Given the description of an element on the screen output the (x, y) to click on. 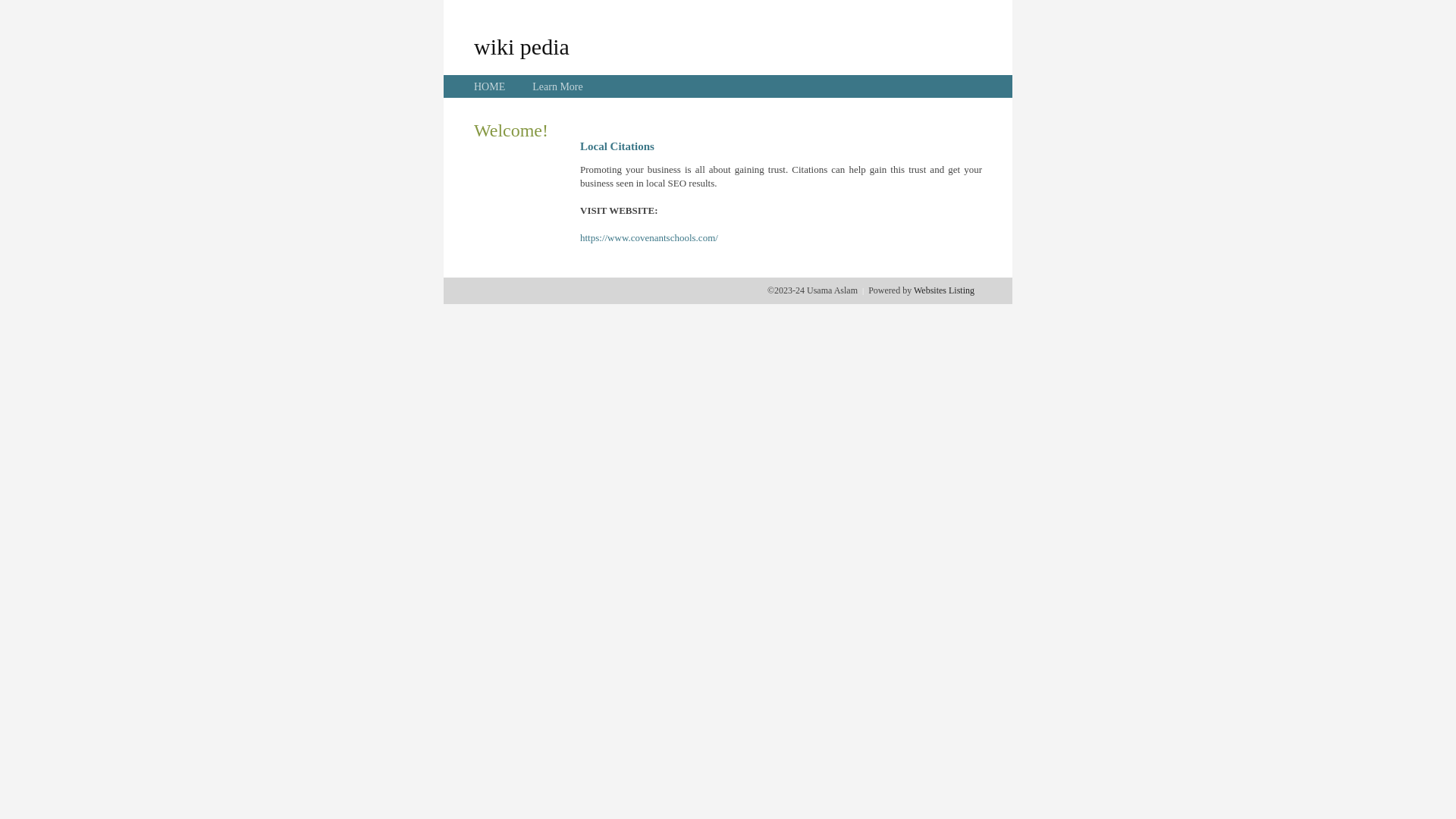
Websites Listing Element type: text (943, 290)
HOME Element type: text (489, 86)
https://www.covenantschools.com/ Element type: text (649, 237)
Learn More Element type: text (557, 86)
wiki pedia Element type: text (521, 46)
